Given the description of an element on the screen output the (x, y) to click on. 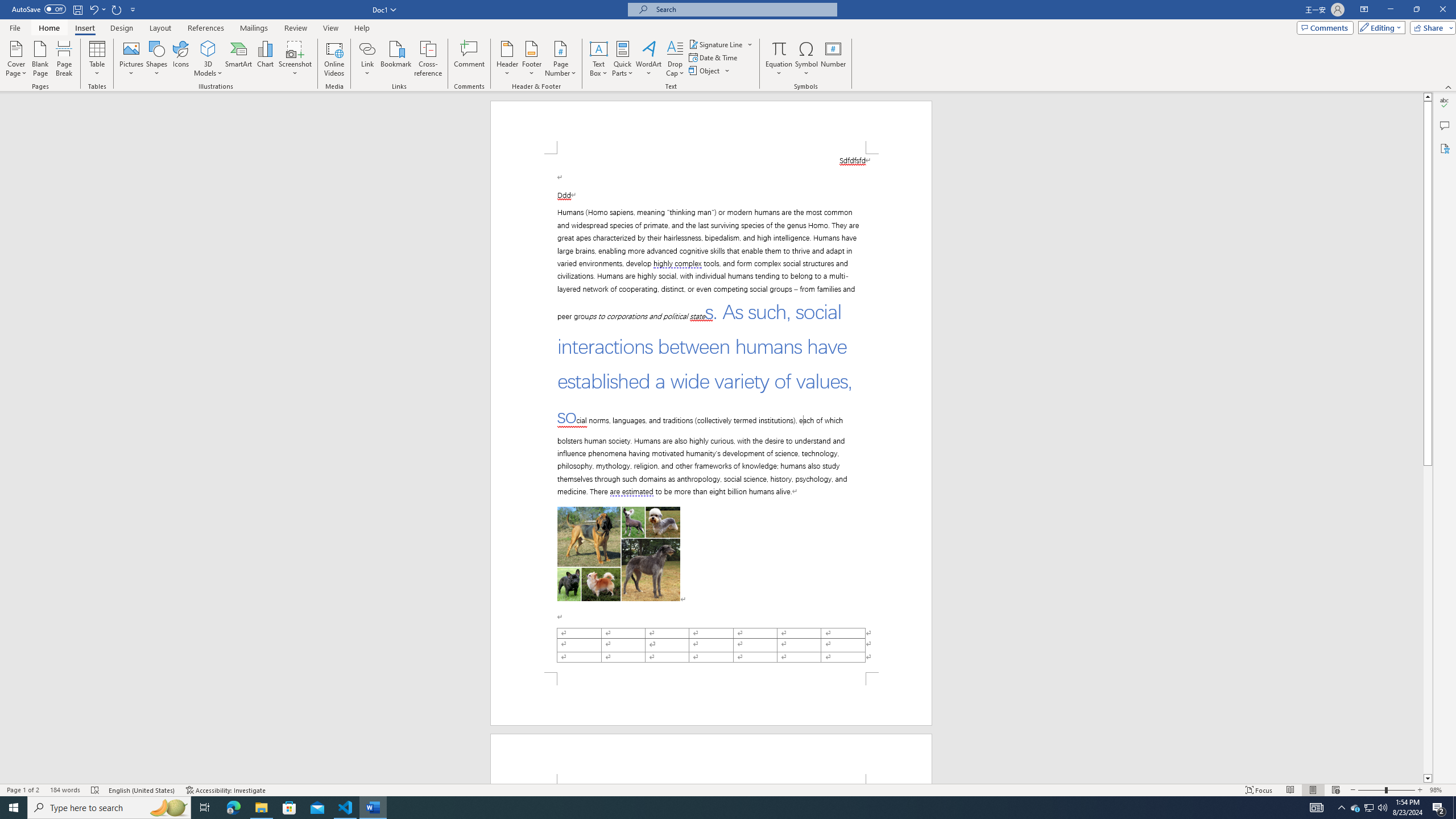
Undo Apply Quick Style Set (96, 9)
Symbol (806, 58)
Microsoft search (742, 9)
Accessibility (1444, 147)
Accessibility Checker Accessibility: Investigate (226, 790)
Link (367, 58)
Repeat Doc Close (117, 9)
Language English (United States) (141, 790)
